Given the description of an element on the screen output the (x, y) to click on. 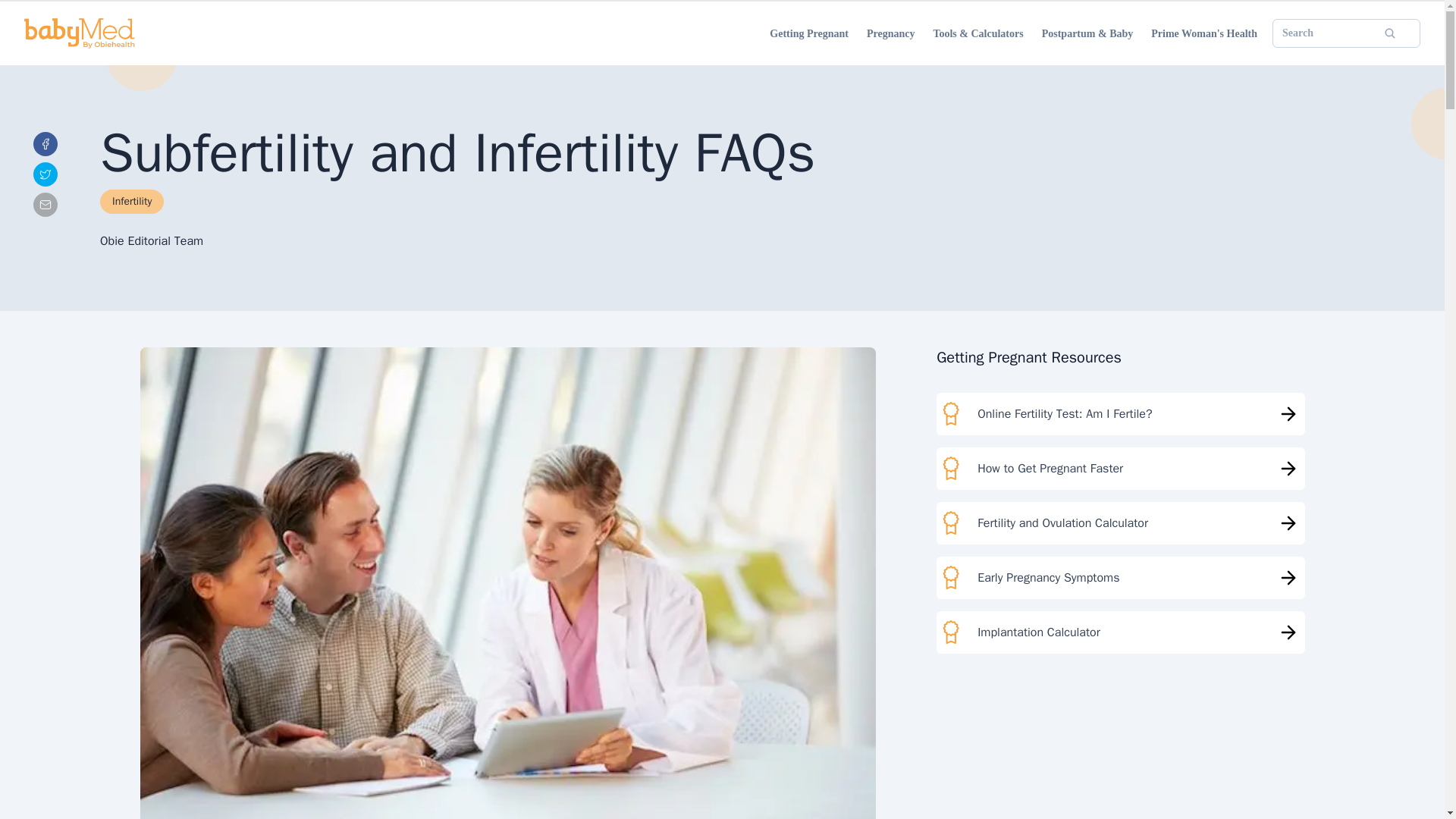
Prime Woman's Health (1204, 33)
Getting Pregnant (809, 33)
Online Fertility Test: Am I Fertile? (1120, 413)
Pregnancy (890, 33)
Fertility and Ovulation Calculator (1120, 523)
Implantation Calculator (1120, 631)
Early Pregnancy Symptoms (1120, 577)
How to Get Pregnant Faster (1120, 468)
